Given the description of an element on the screen output the (x, y) to click on. 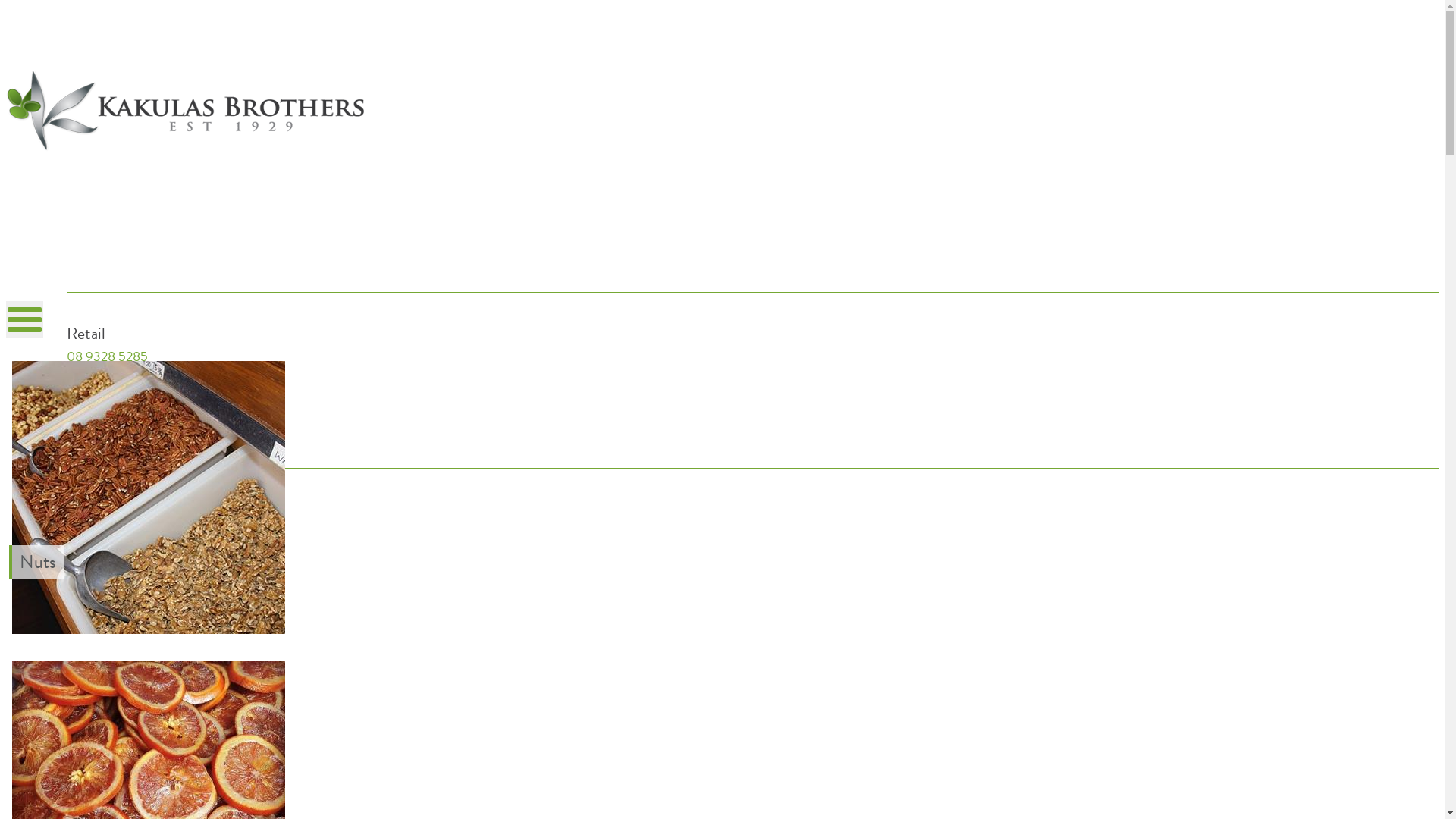
  Order Online Element type: text (106, 446)
Nuts Element type: text (147, 628)
08 9328 5285 Element type: text (106, 355)
08 9228 8003 Element type: text (107, 425)
